Given the description of an element on the screen output the (x, y) to click on. 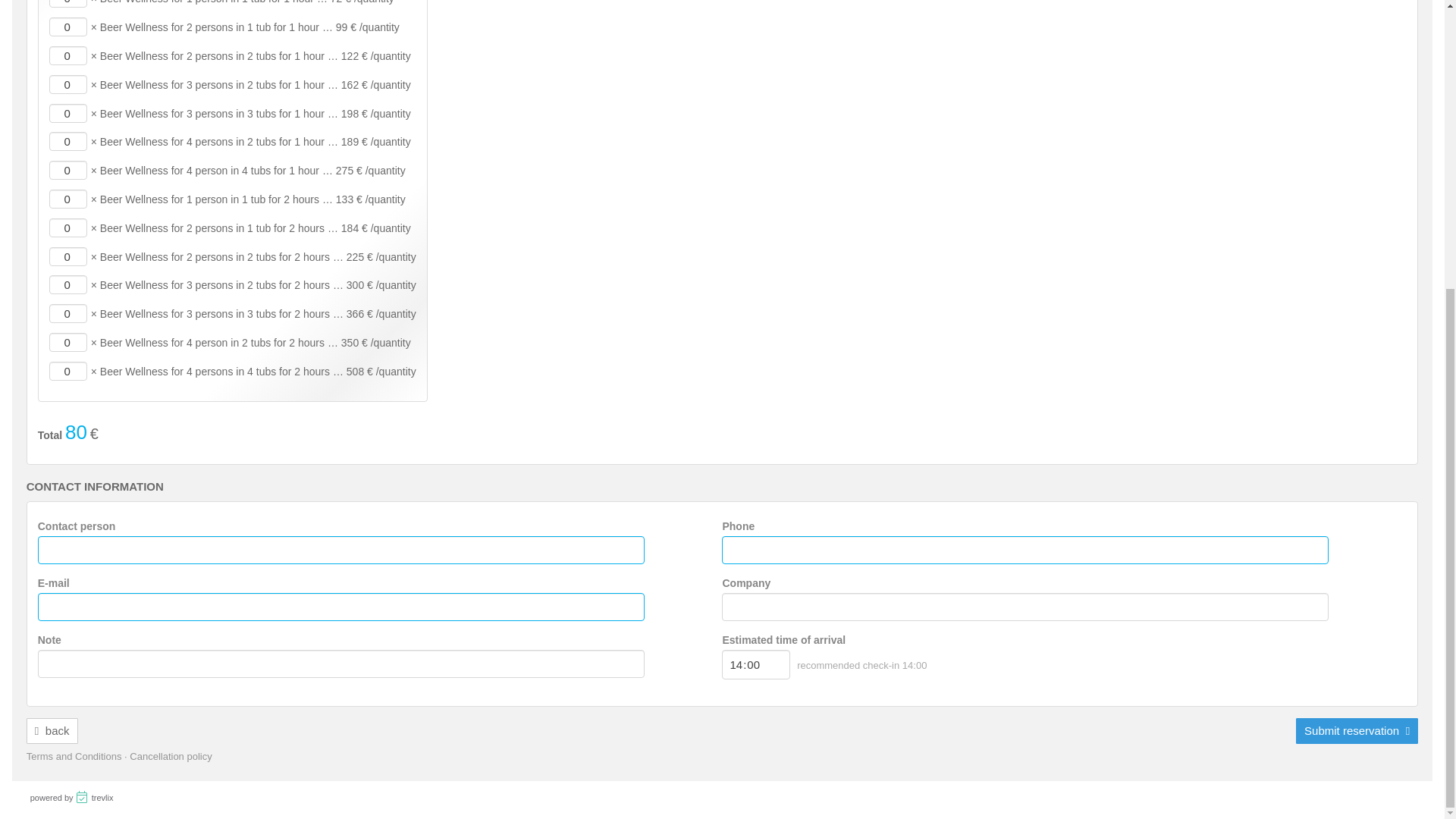
0 (68, 169)
powered by trevlix (71, 797)
0 (68, 113)
0 (68, 3)
0 (68, 312)
back (52, 730)
0 (68, 84)
0 (68, 26)
Terms and Conditions (74, 756)
0 (68, 256)
0 (68, 370)
Submit reservation (1356, 730)
0 (68, 140)
0 (68, 342)
0 (68, 227)
